Given the description of an element on the screen output the (x, y) to click on. 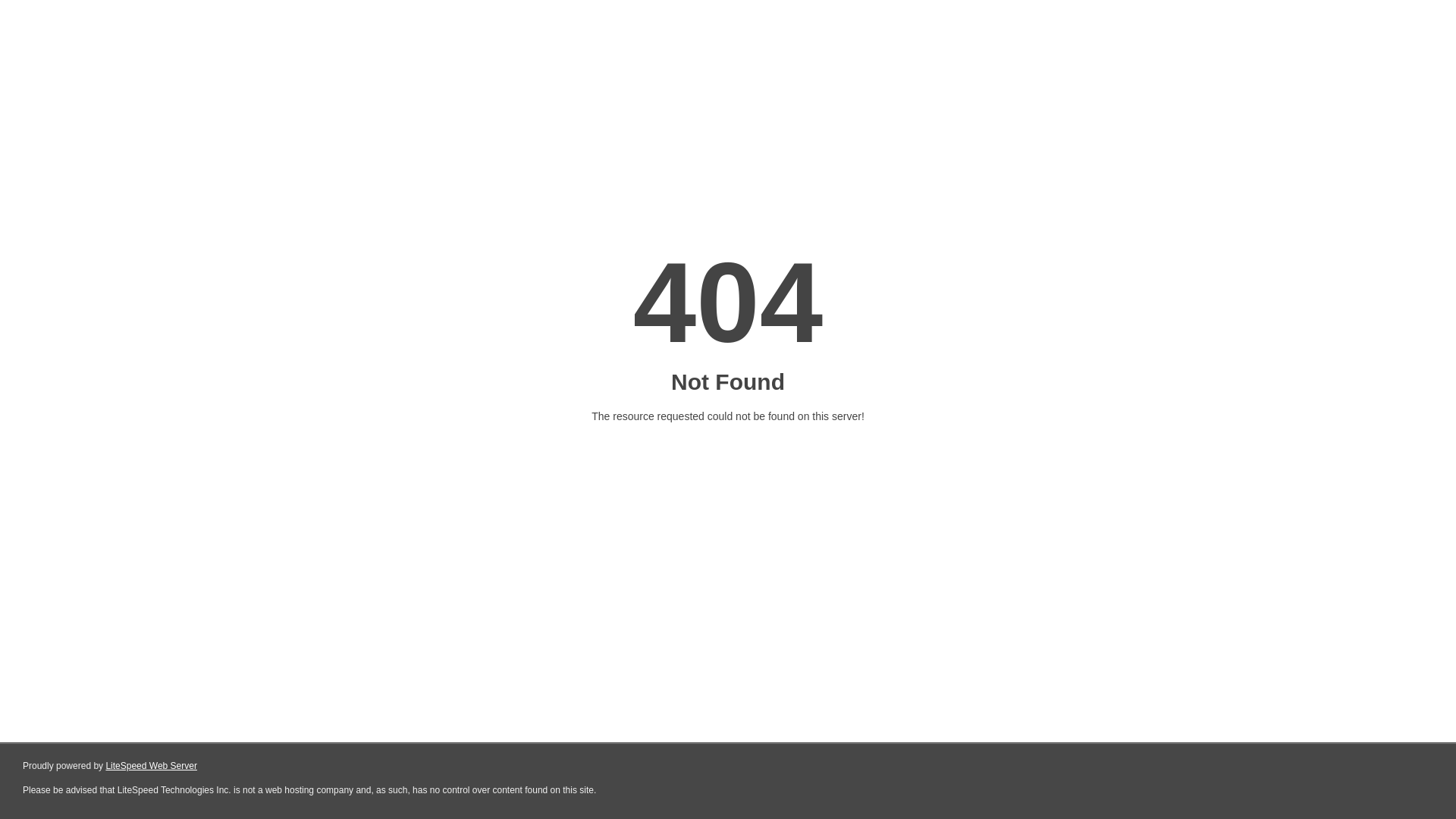
LiteSpeed Web Server Element type: text (151, 765)
